Given the description of an element on the screen output the (x, y) to click on. 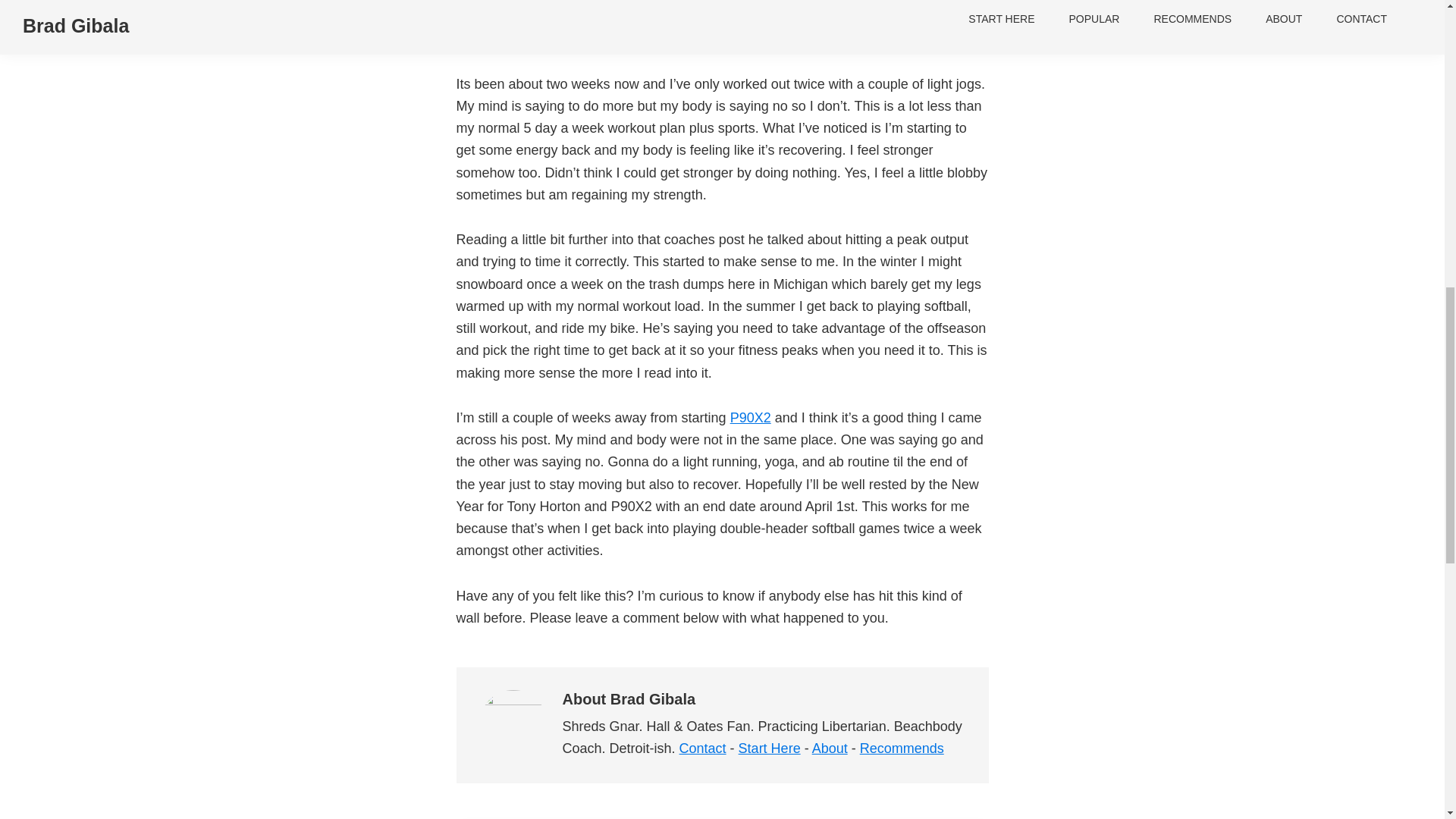
P90X2 (750, 417)
About (829, 748)
Recommends (901, 748)
Start Here (769, 748)
P90X2 (750, 417)
Contact (702, 748)
